Given the description of an element on the screen output the (x, y) to click on. 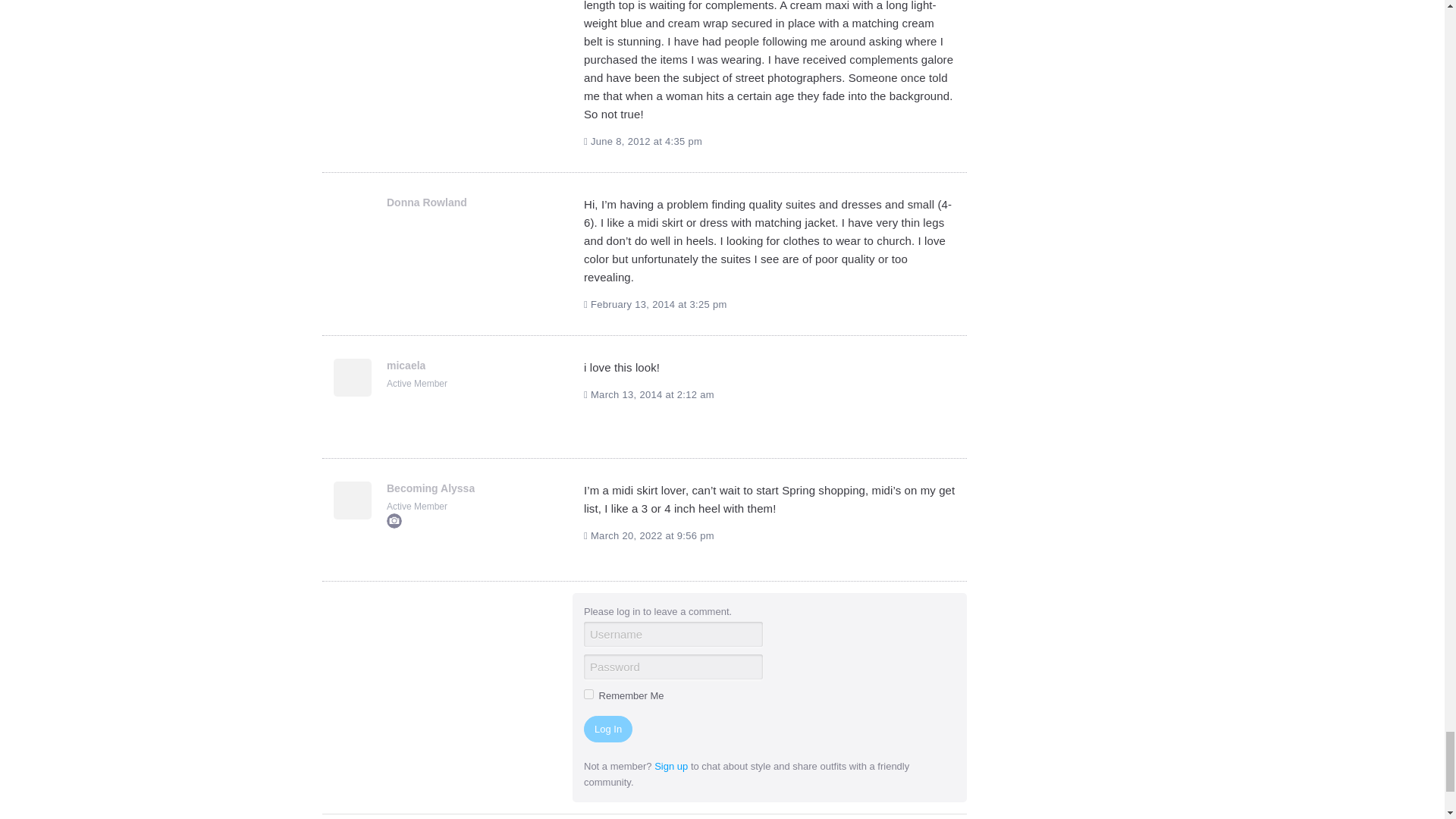
forever (588, 694)
Log In (607, 728)
